Given the description of an element on the screen output the (x, y) to click on. 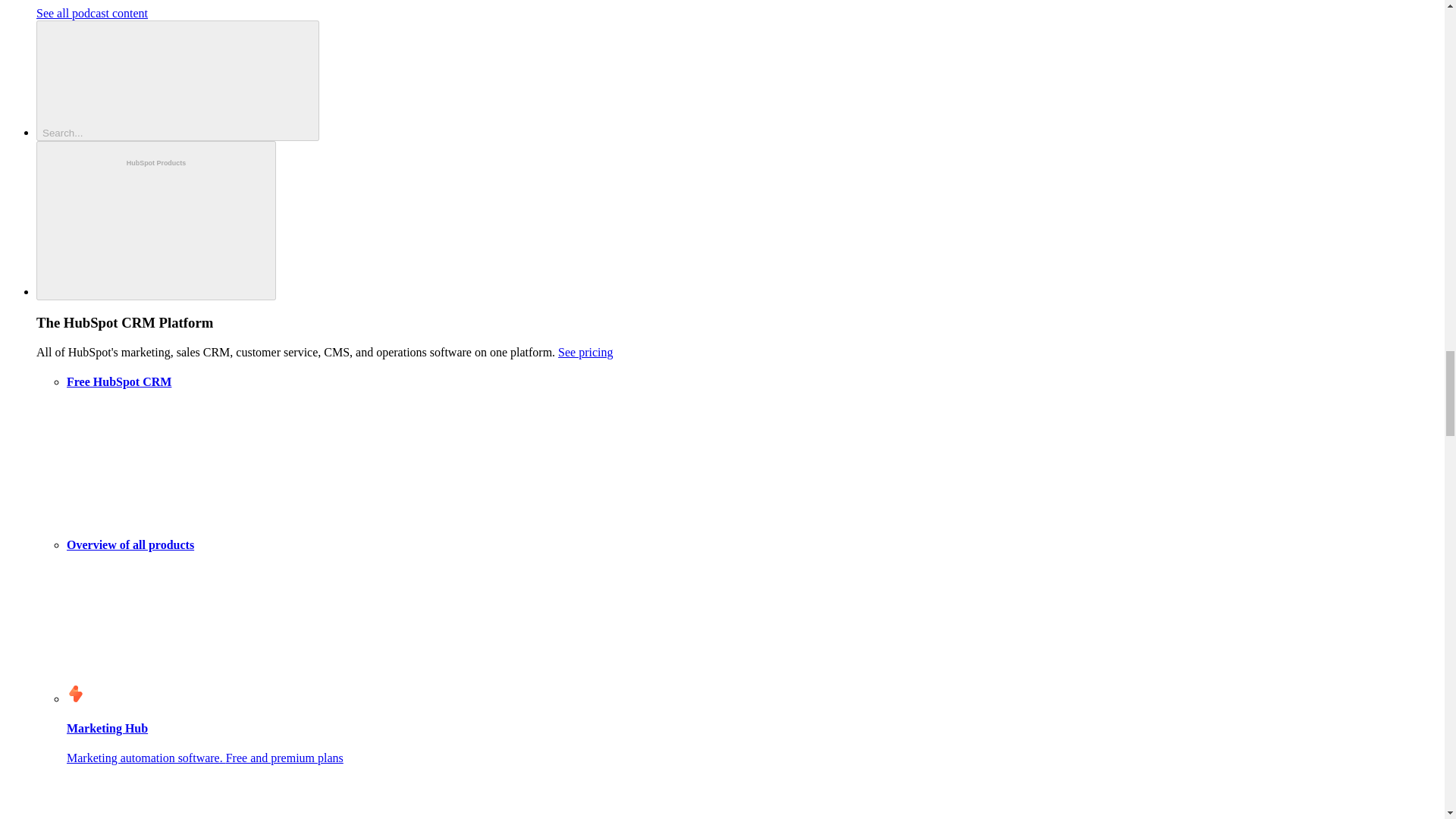
See all podcast content (92, 12)
See pricing (584, 351)
HubSpot Products (156, 220)
Search... (177, 80)
